Given the description of an element on the screen output the (x, y) to click on. 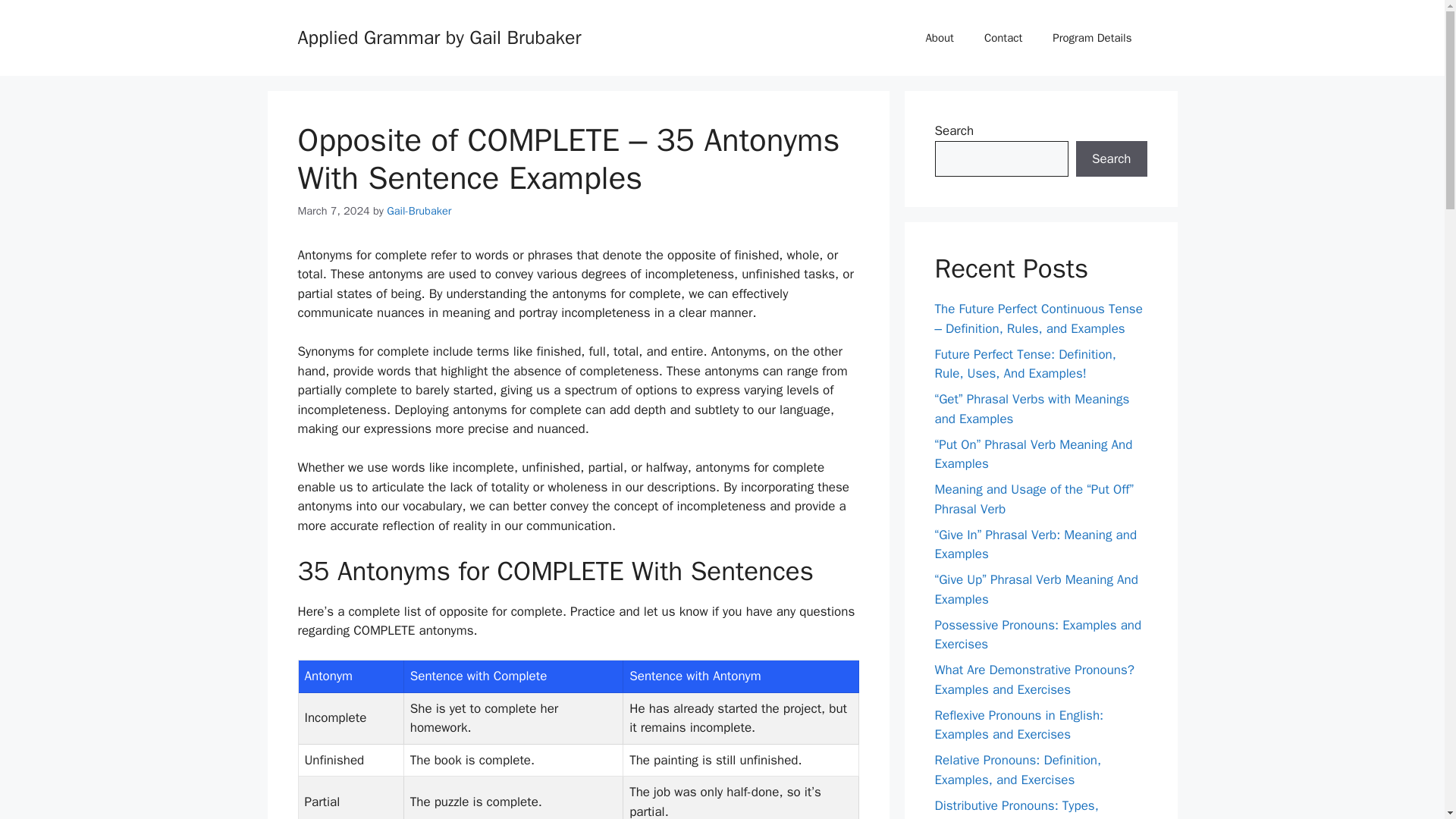
About (939, 37)
Program Details (1091, 37)
Possessive Pronouns: Examples and Exercises (1037, 634)
Applied Grammar by Gail Brubaker (438, 37)
Relative Pronouns: Definition, Examples, and Exercises (1017, 769)
Contact (1002, 37)
Gail-Brubaker (419, 210)
What Are Demonstrative Pronouns? Examples and Exercises (1034, 679)
Reflexive Pronouns in English: Examples and Exercises (1018, 724)
View all posts by Gail-Brubaker (419, 210)
Future Perfect Tense: Definition, Rule, Uses, And Examples! (1024, 363)
Search (1111, 158)
Distributive Pronouns: Types, Examples, and Usage (1015, 808)
